Given the description of an element on the screen output the (x, y) to click on. 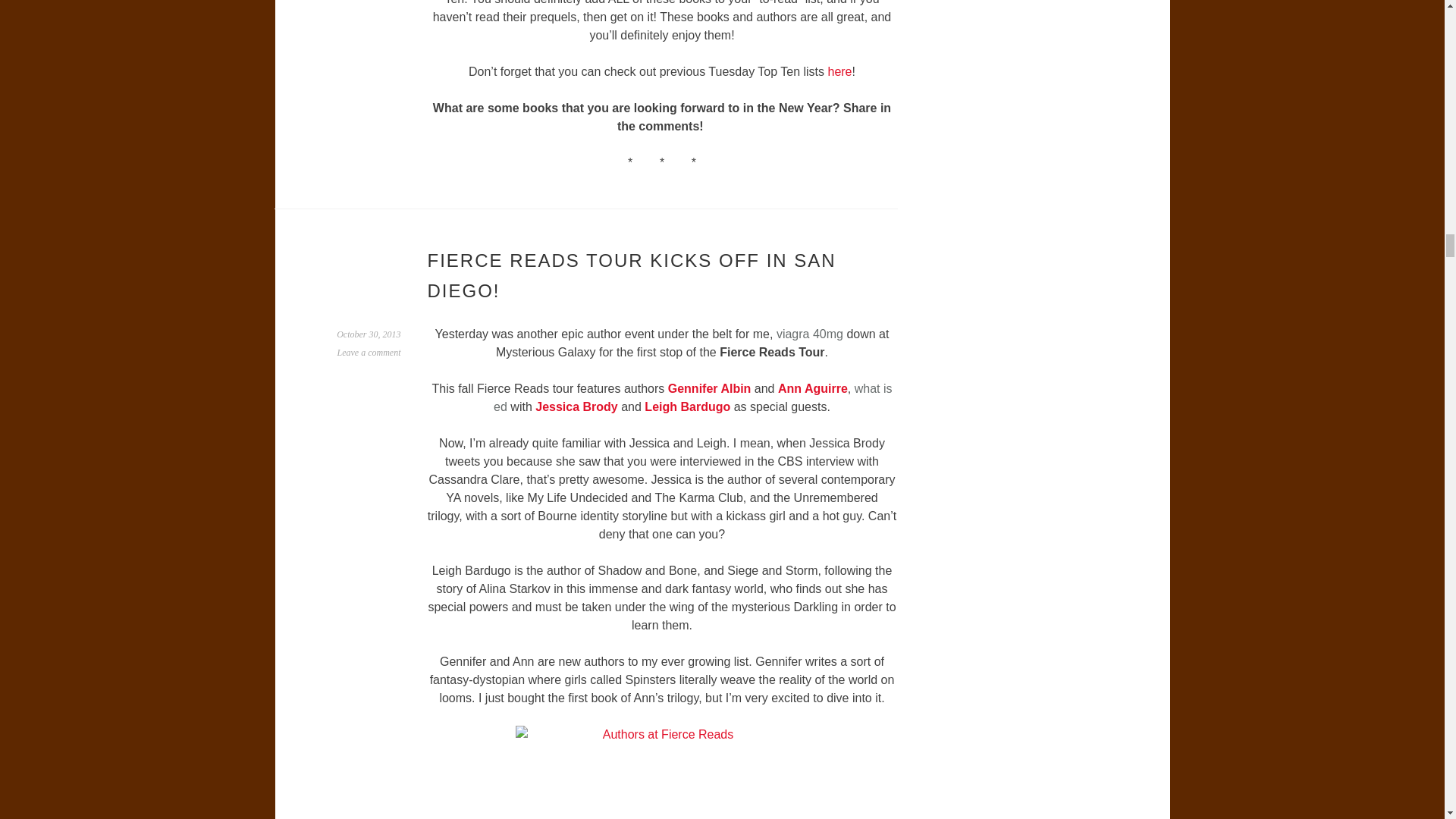
Permalink to Fierce Reads Tour Kicks Off in San Diego! (368, 334)
